Given the description of an element on the screen output the (x, y) to click on. 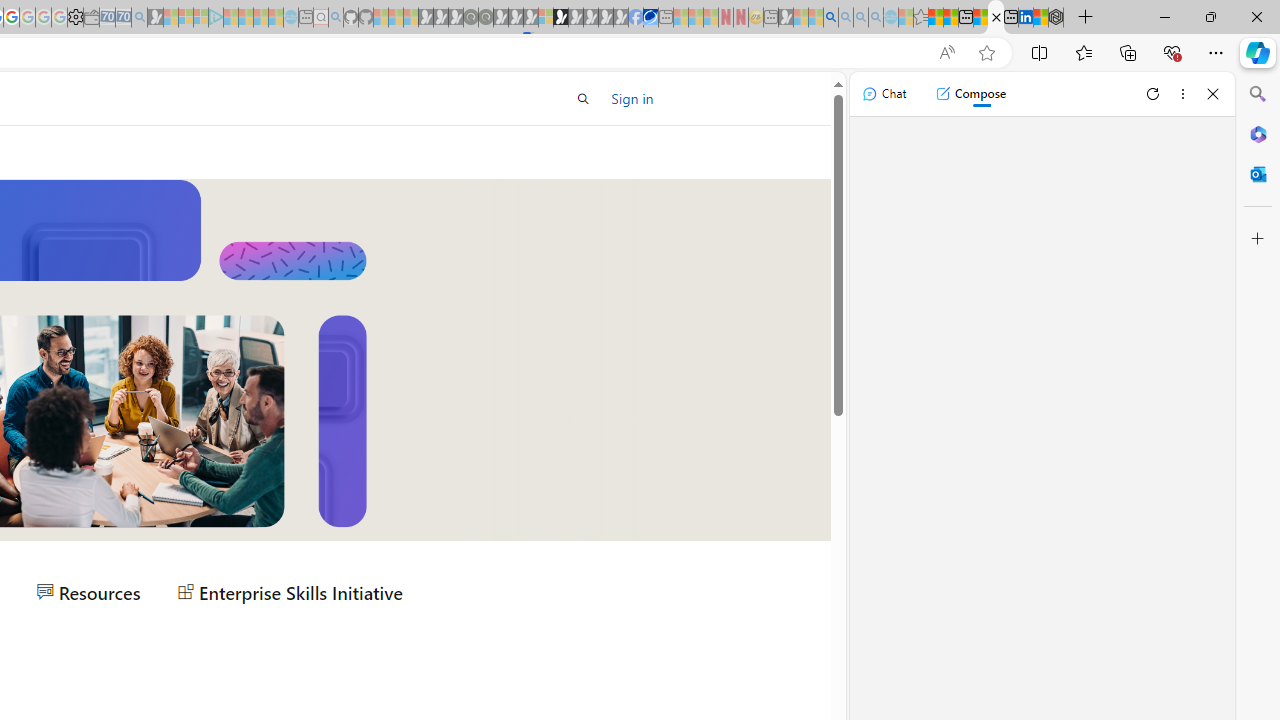
Home | Sky Blue Bikes - Sky Blue Bikes - Sleeping (291, 17)
